Given the description of an element on the screen output the (x, y) to click on. 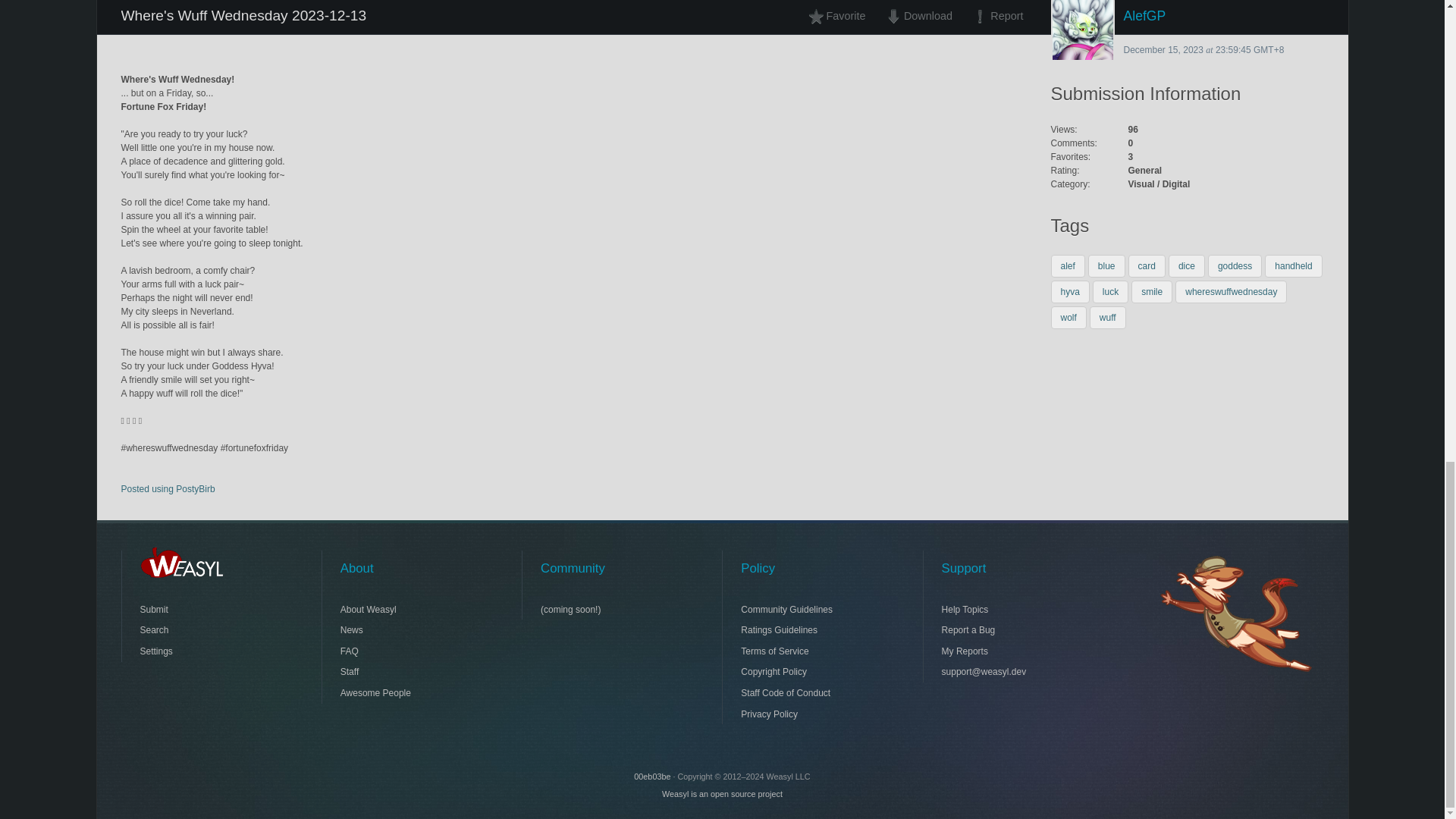
goddess (1235, 265)
blue (1106, 265)
alef (1067, 265)
wuff (1107, 317)
whereswuffwednesday (1230, 291)
Report (993, 17)
luck (1110, 291)
AlefGP (1187, 17)
smile (1151, 291)
Favorite (841, 17)
